Given the description of an element on the screen output the (x, y) to click on. 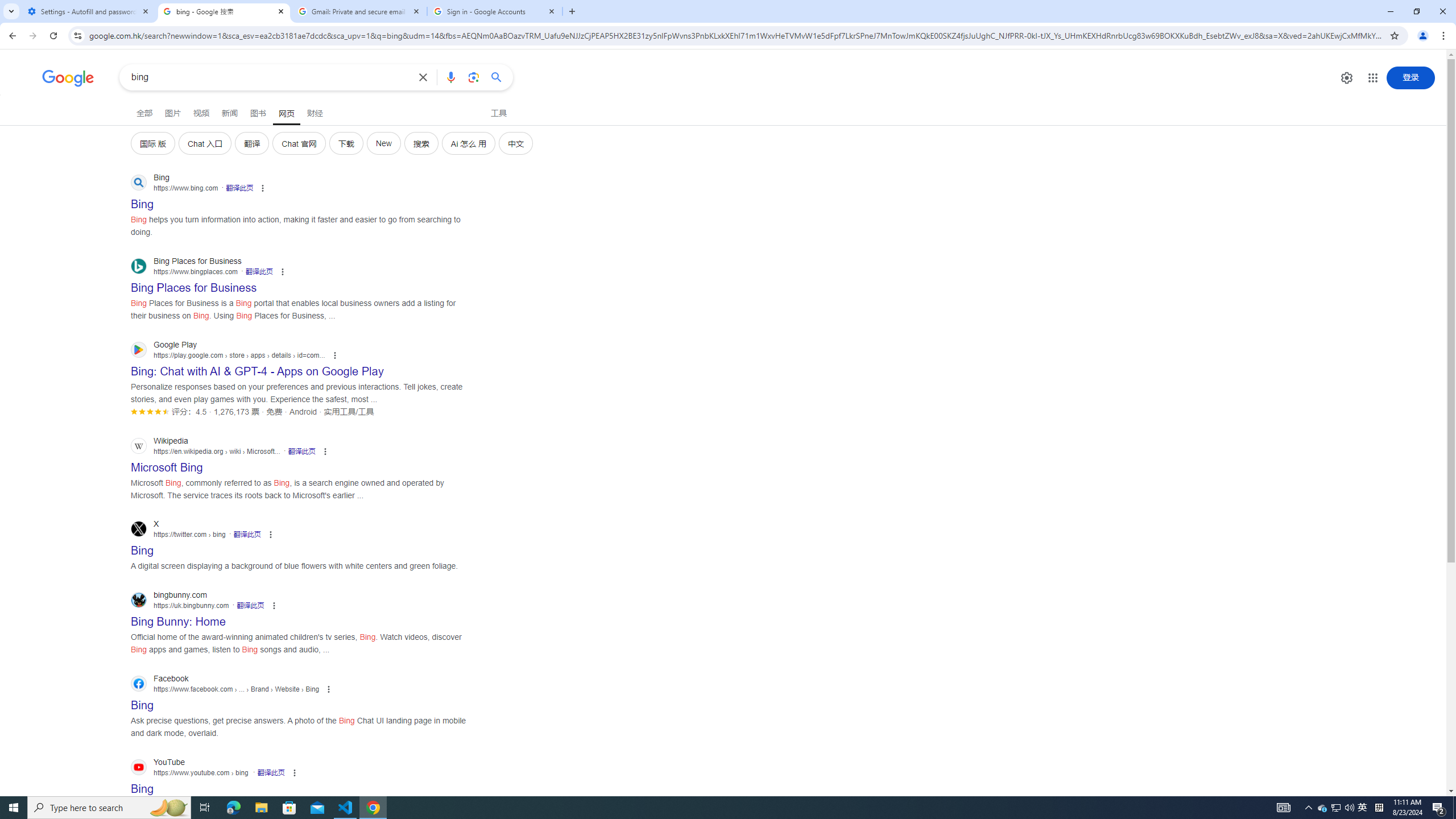
Settings - Autofill and passwords (88, 11)
